Given the description of an element on the screen output the (x, y) to click on. 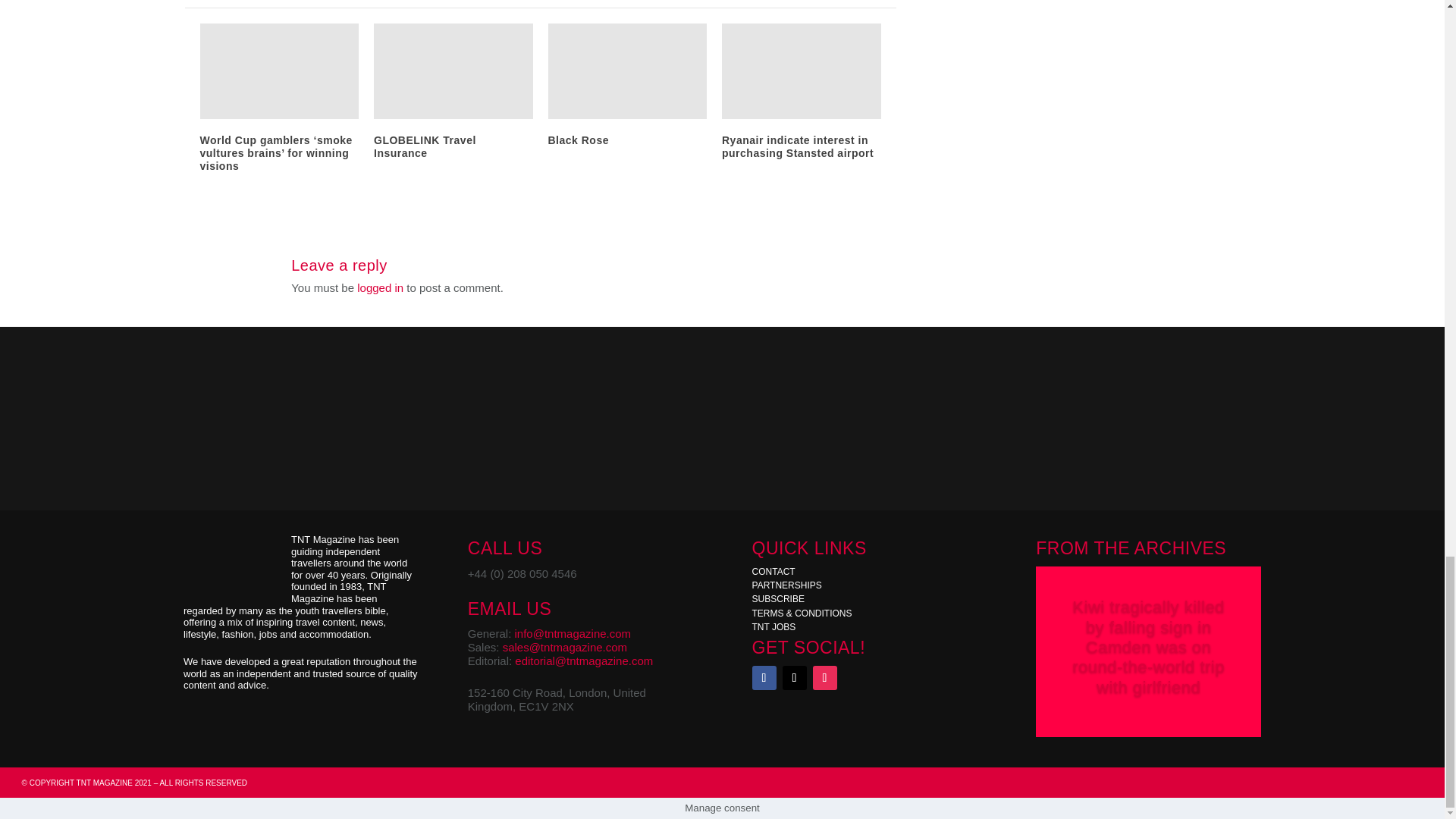
Black Rose (577, 140)
Ryanair indicate interest in purchasing Stansted airport (797, 146)
GLOBELINK Travel Insurance (425, 146)
